Given the description of an element on the screen output the (x, y) to click on. 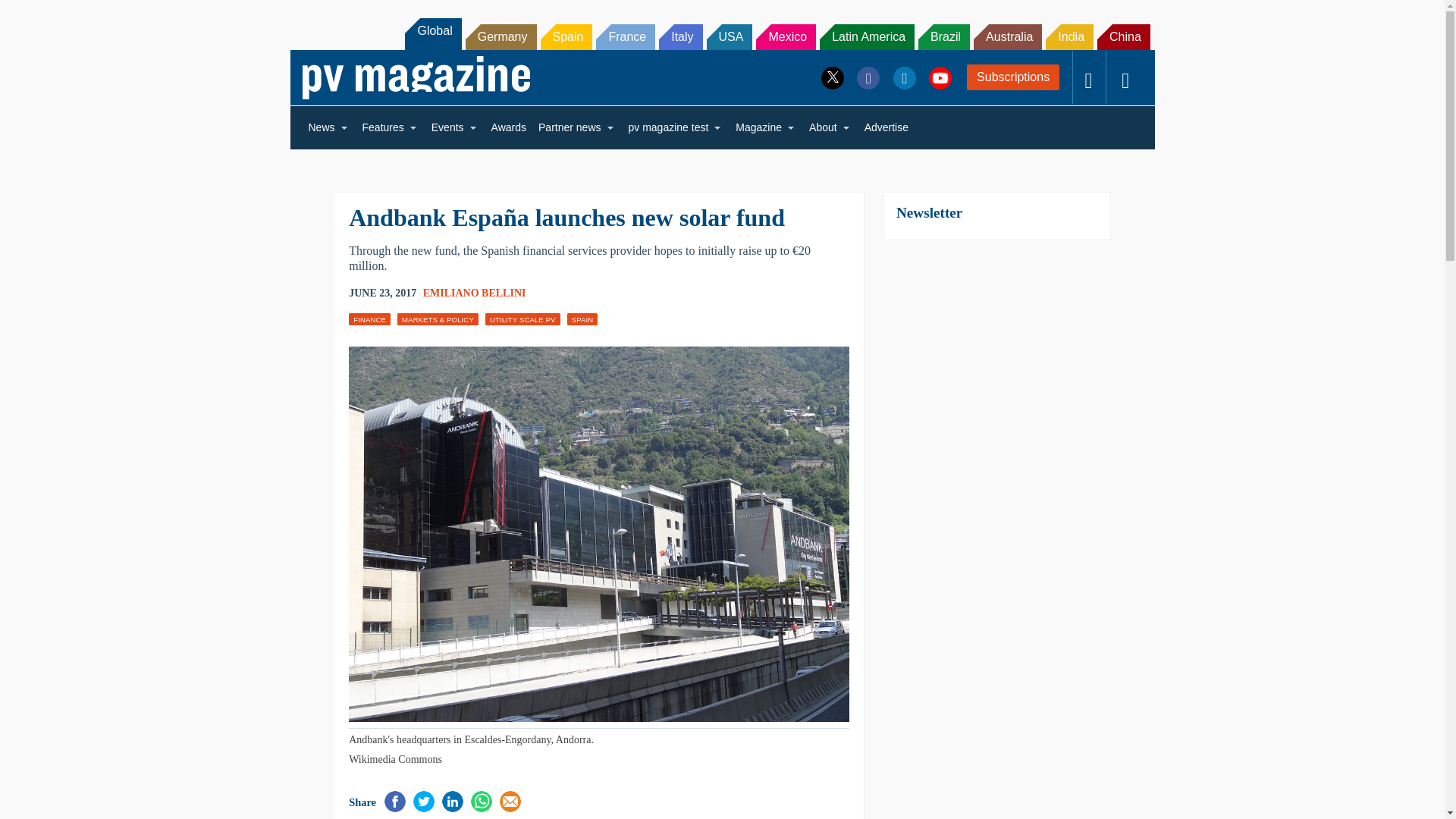
Mexico (785, 36)
Friday, June 23, 2017, 10:31 am (382, 293)
Search (32, 15)
pv magazine - Photovoltaics Markets and Technology (415, 77)
Global (432, 33)
Latin America (866, 36)
Italy (680, 36)
China (1123, 36)
Spain (566, 36)
USA (729, 36)
France (625, 36)
India (1069, 36)
Subscriptions (1012, 77)
Australia (1008, 36)
